Given the description of an element on the screen output the (x, y) to click on. 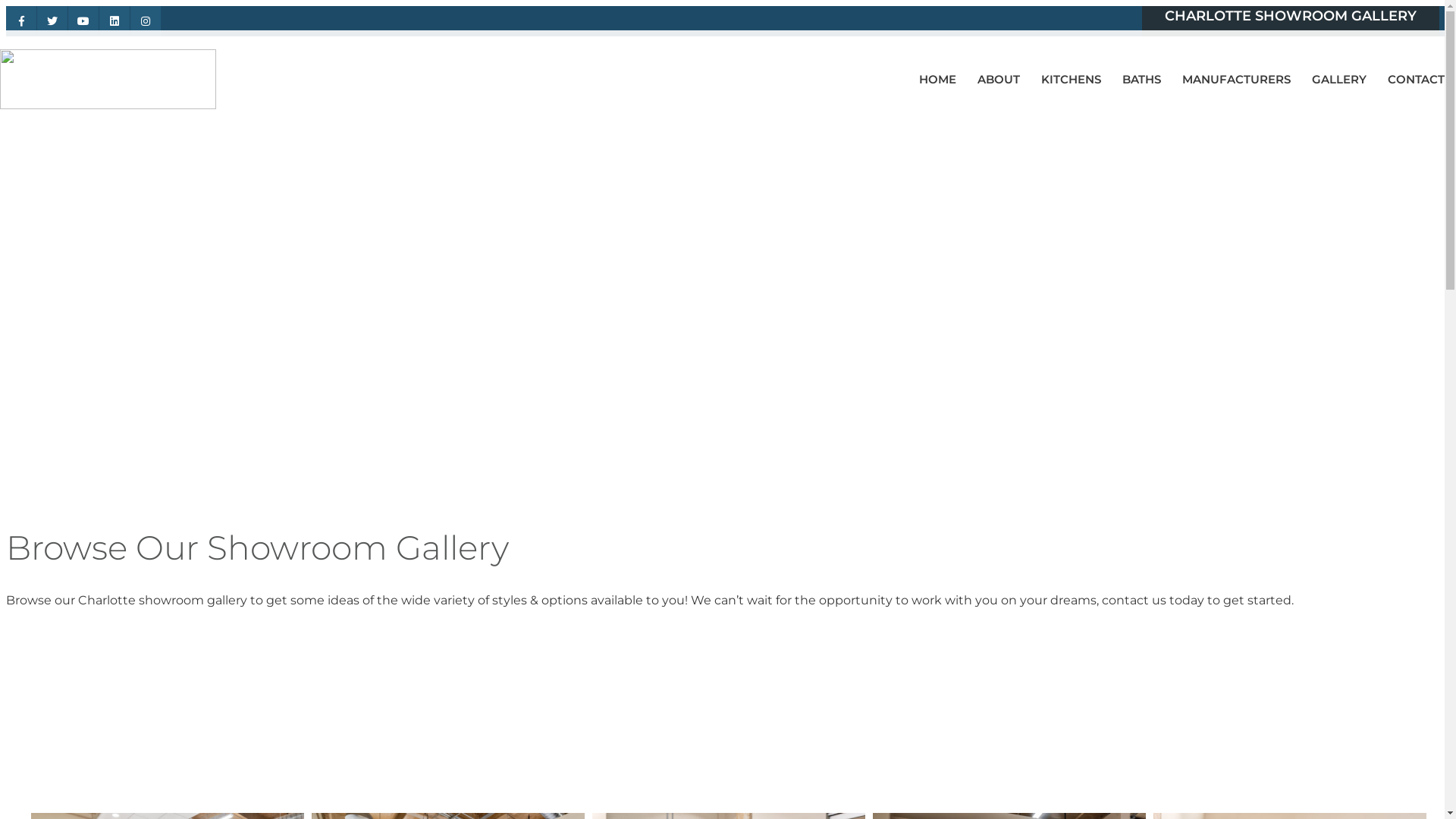
ABOUT Element type: text (998, 79)
Member Login Element type: text (1377, 52)
KITCHENS Element type: text (1071, 79)
HOME Element type: text (942, 79)
MANUFACTURERS Element type: text (1236, 79)
BATHS Element type: text (1141, 79)
GALLERY Element type: text (1338, 79)
CONTACT Element type: text (1411, 79)
